Given the description of an element on the screen output the (x, y) to click on. 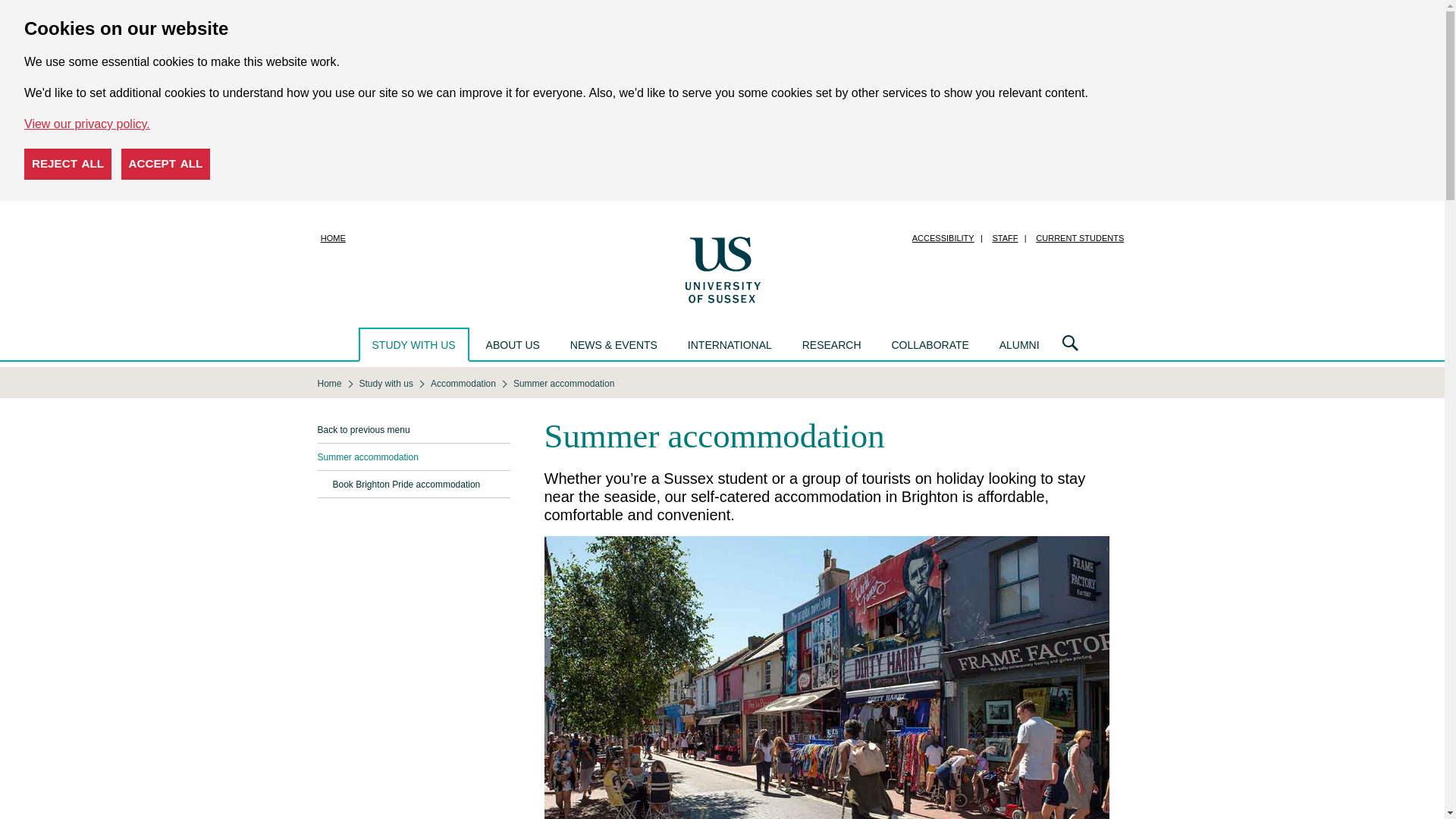
REJECT ALL (68, 163)
CURRENT STUDENTS (1079, 238)
ACCESSIBILITY (942, 238)
Search (1070, 343)
ACCEPT ALL (165, 163)
View our privacy policy. (86, 123)
STUDY WITH US (413, 344)
University of Sussex (722, 268)
HOME (333, 238)
